Given the description of an element on the screen output the (x, y) to click on. 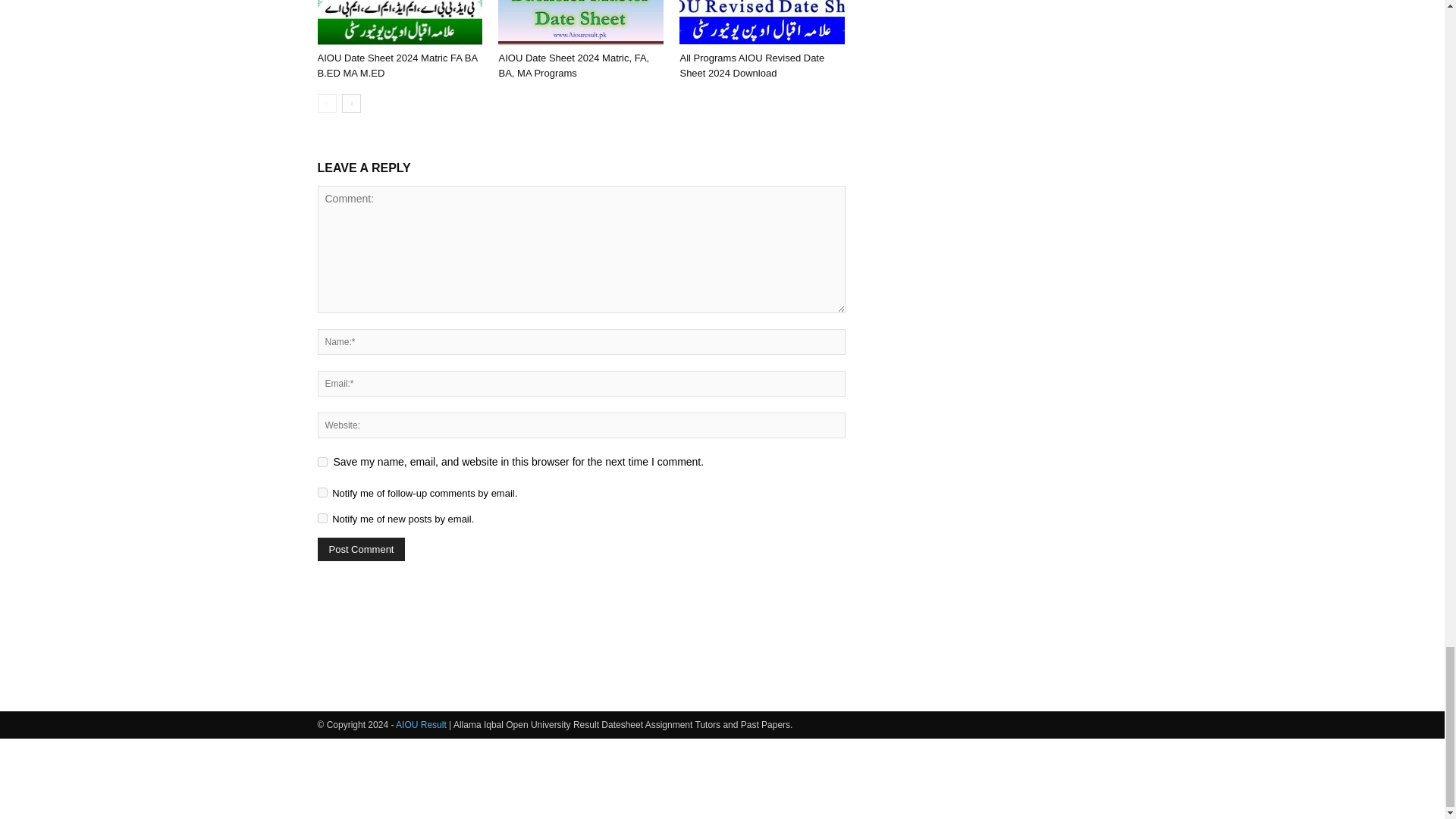
subscribe (321, 492)
subscribe (321, 518)
yes (321, 461)
Post Comment (360, 549)
